Given the description of an element on the screen output the (x, y) to click on. 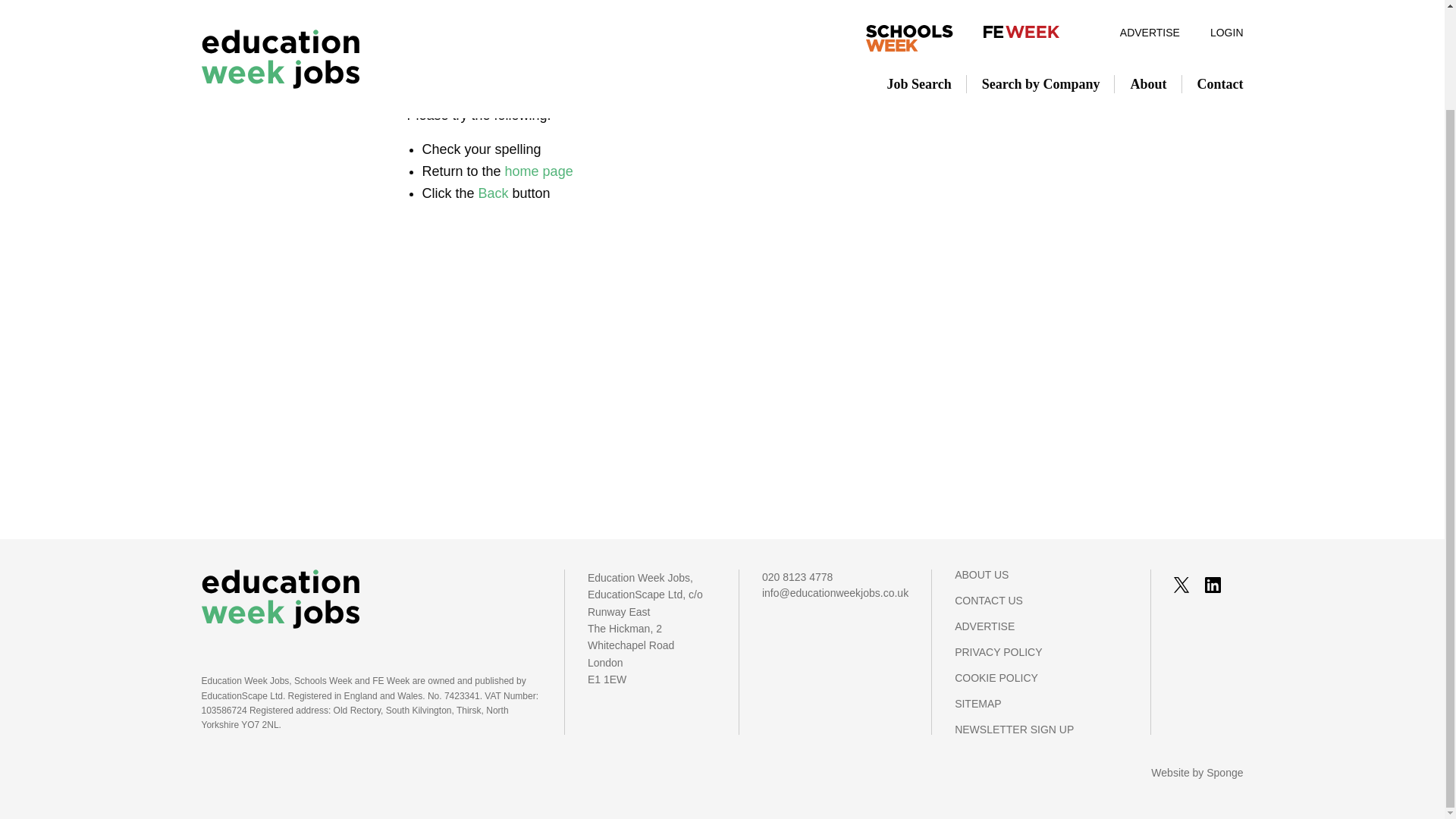
020 8123 4778 (834, 577)
ADVERTISE (1040, 633)
Back (493, 192)
PRIVACY POLICY (1040, 659)
SITEMAP (1040, 710)
CONTACT US (1040, 607)
ABOUT US (1040, 582)
NEWSLETTER SIGN UP (1040, 728)
home page (539, 171)
Website by Sponge (1197, 772)
